Given the description of an element on the screen output the (x, y) to click on. 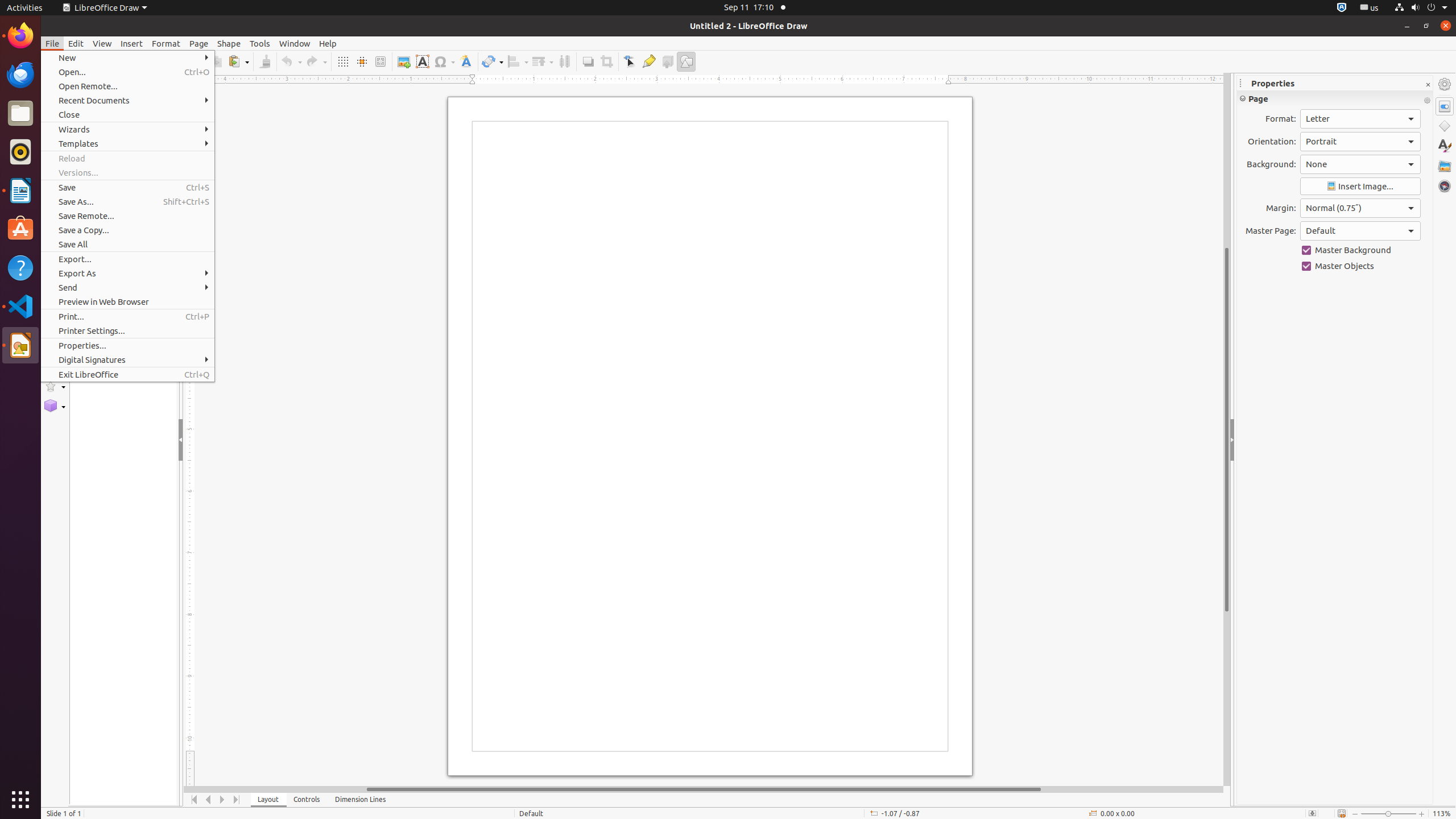
Background: Element type: combo-box (1360, 164)
Show Applications Element type: toggle-button (20, 799)
Insert Element type: menu (131, 43)
Window Element type: menu (294, 43)
Toggle Extrusion Element type: push-button (667, 61)
